Given the description of an element on the screen output the (x, y) to click on. 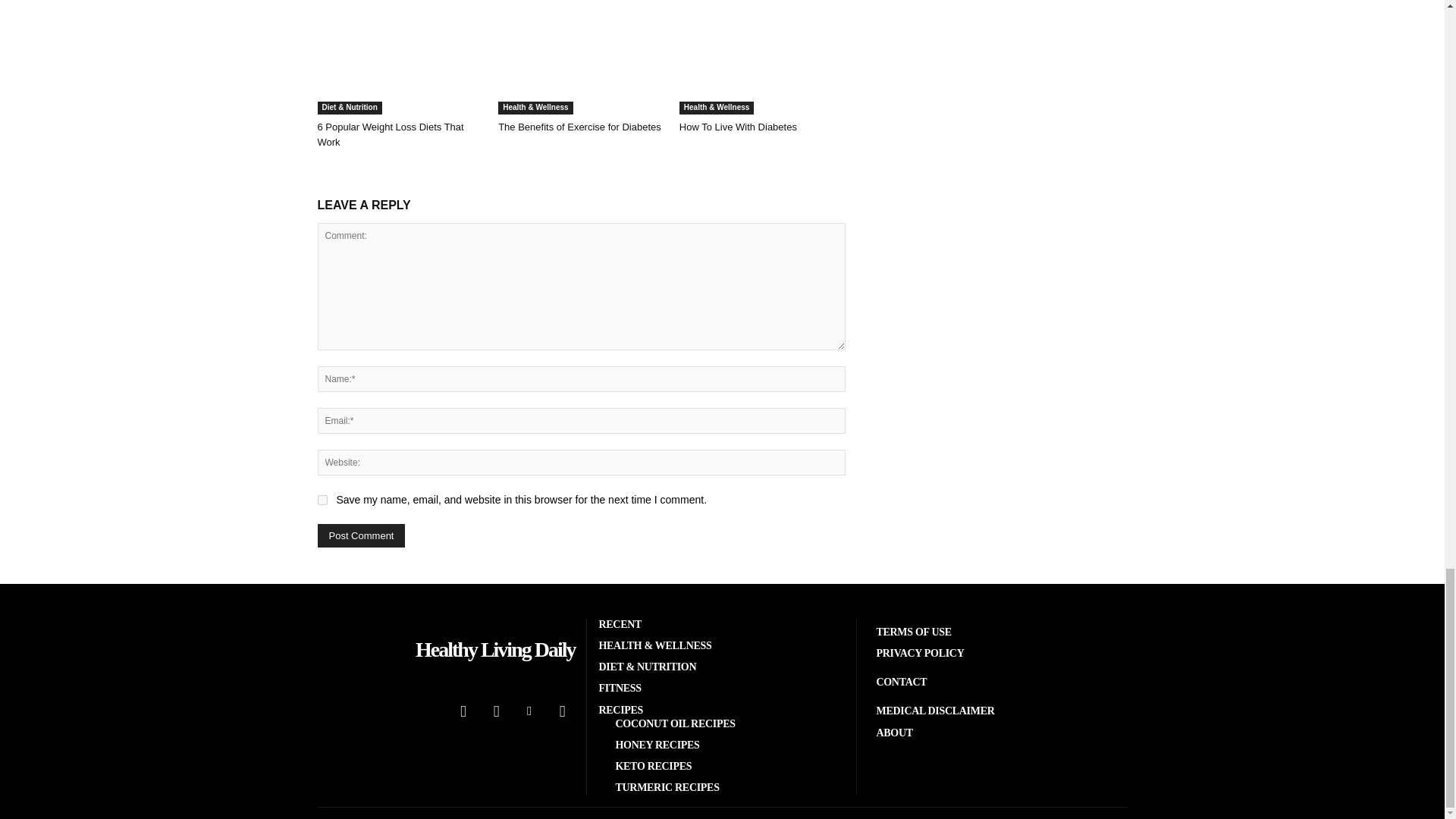
yes (321, 500)
Post Comment (360, 535)
